Given the description of an element on the screen output the (x, y) to click on. 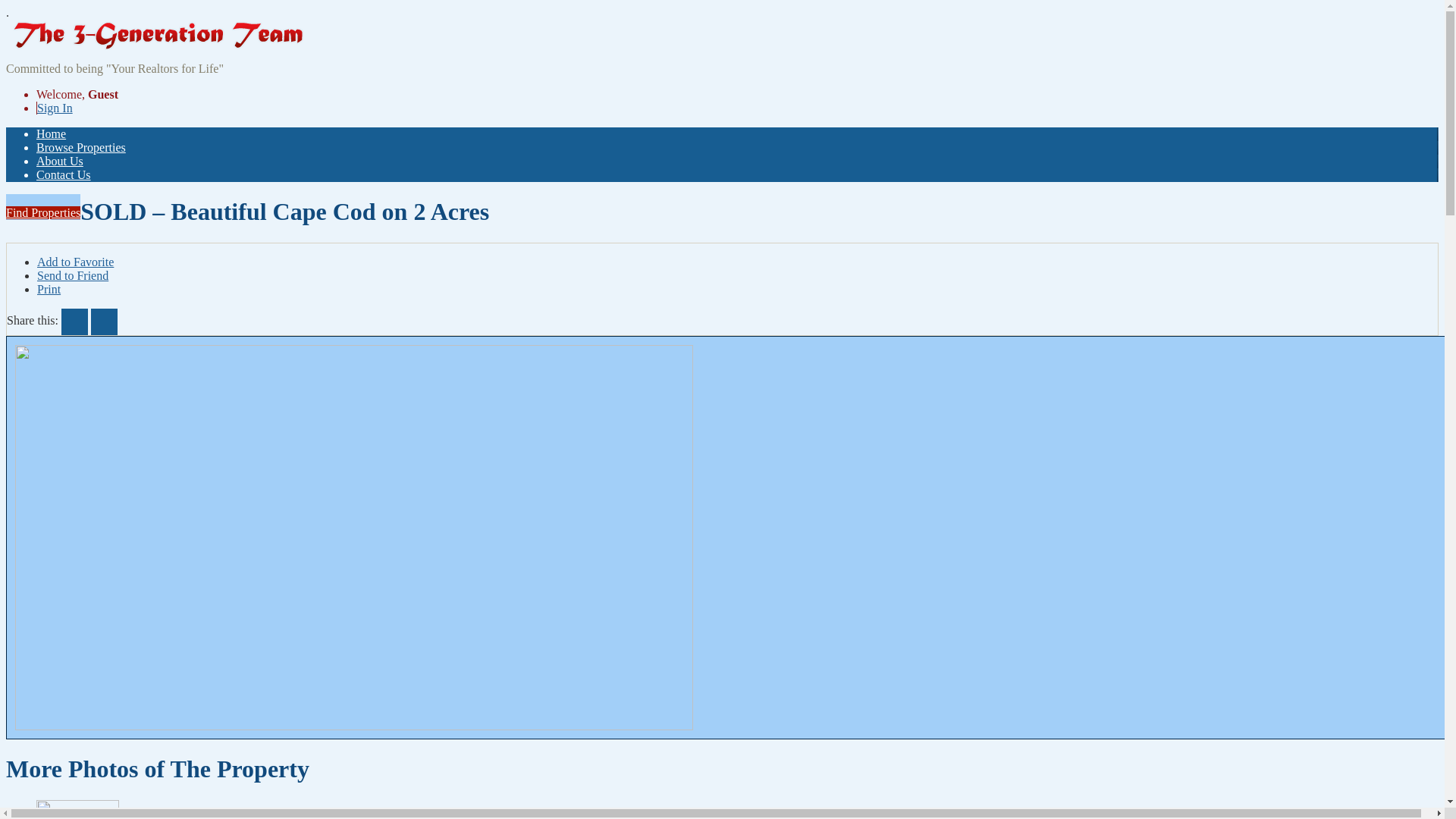
Home Element type: text (50, 133)
Add to Favorite Element type: text (75, 261)
Print Element type: text (48, 288)
Sign In Element type: text (54, 107)
About Us Element type: text (59, 160)
Find Properties Element type: text (43, 212)
Contact Us Element type: text (63, 174)
Browse Properties Element type: text (80, 147)
Send to Friend Element type: text (72, 275)
